Given the description of an element on the screen output the (x, y) to click on. 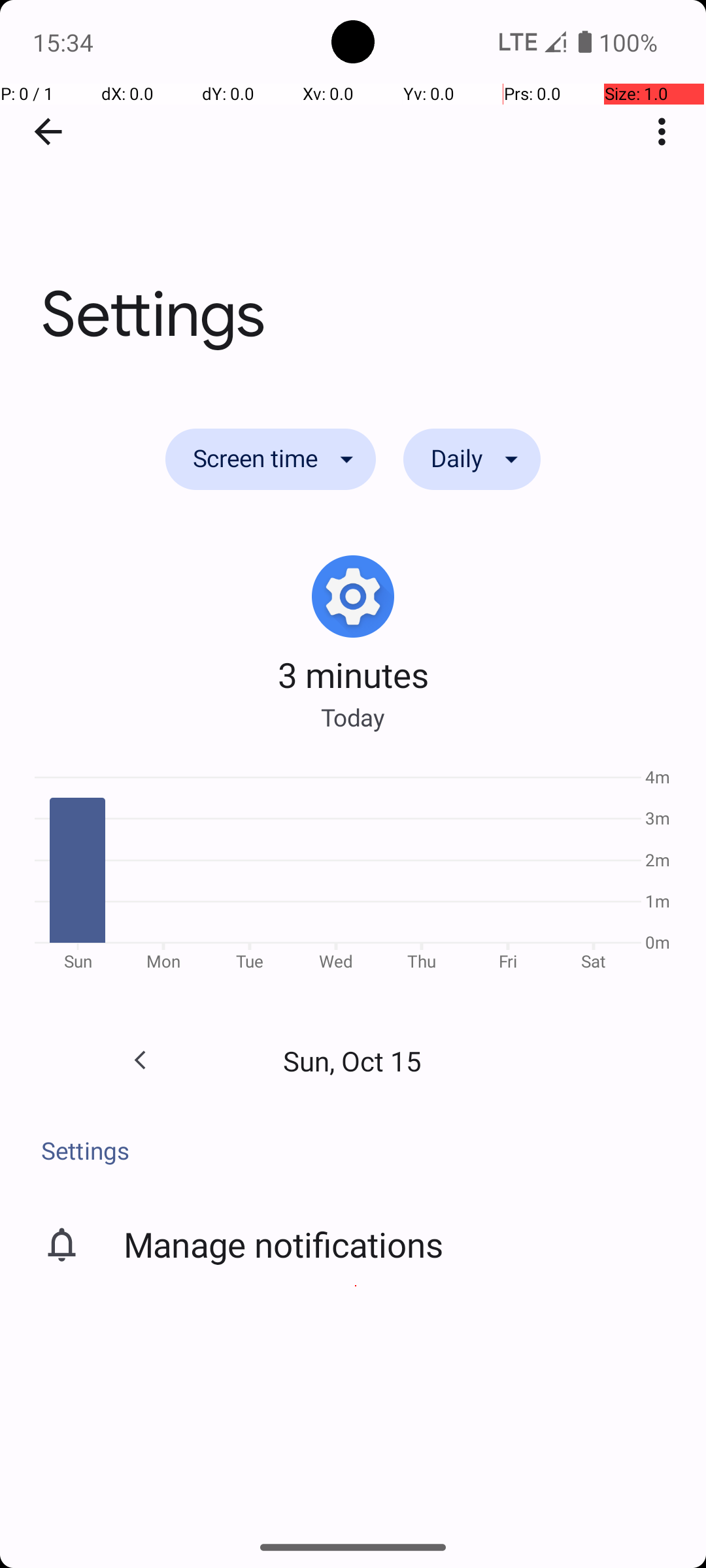
3 minutes Element type: android.widget.TextView (353, 674)
Go to the previous day Element type: android.widget.Button (139, 1060)
Manage notifications Element type: android.widget.TextView (283, 1244)
